Given the description of an element on the screen output the (x, y) to click on. 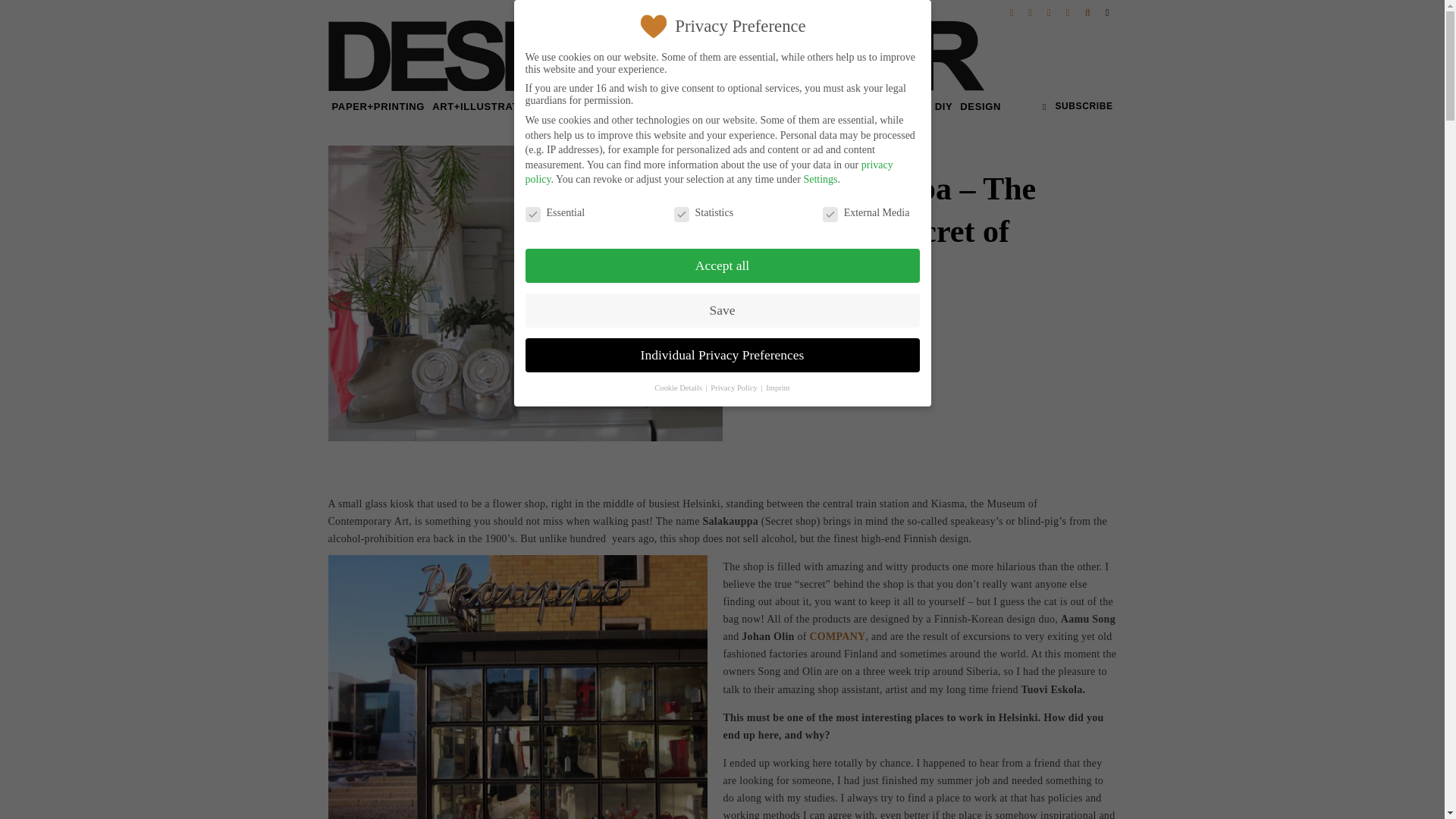
TYPE (558, 106)
INSIGHTS (605, 106)
